Given the description of an element on the screen output the (x, y) to click on. 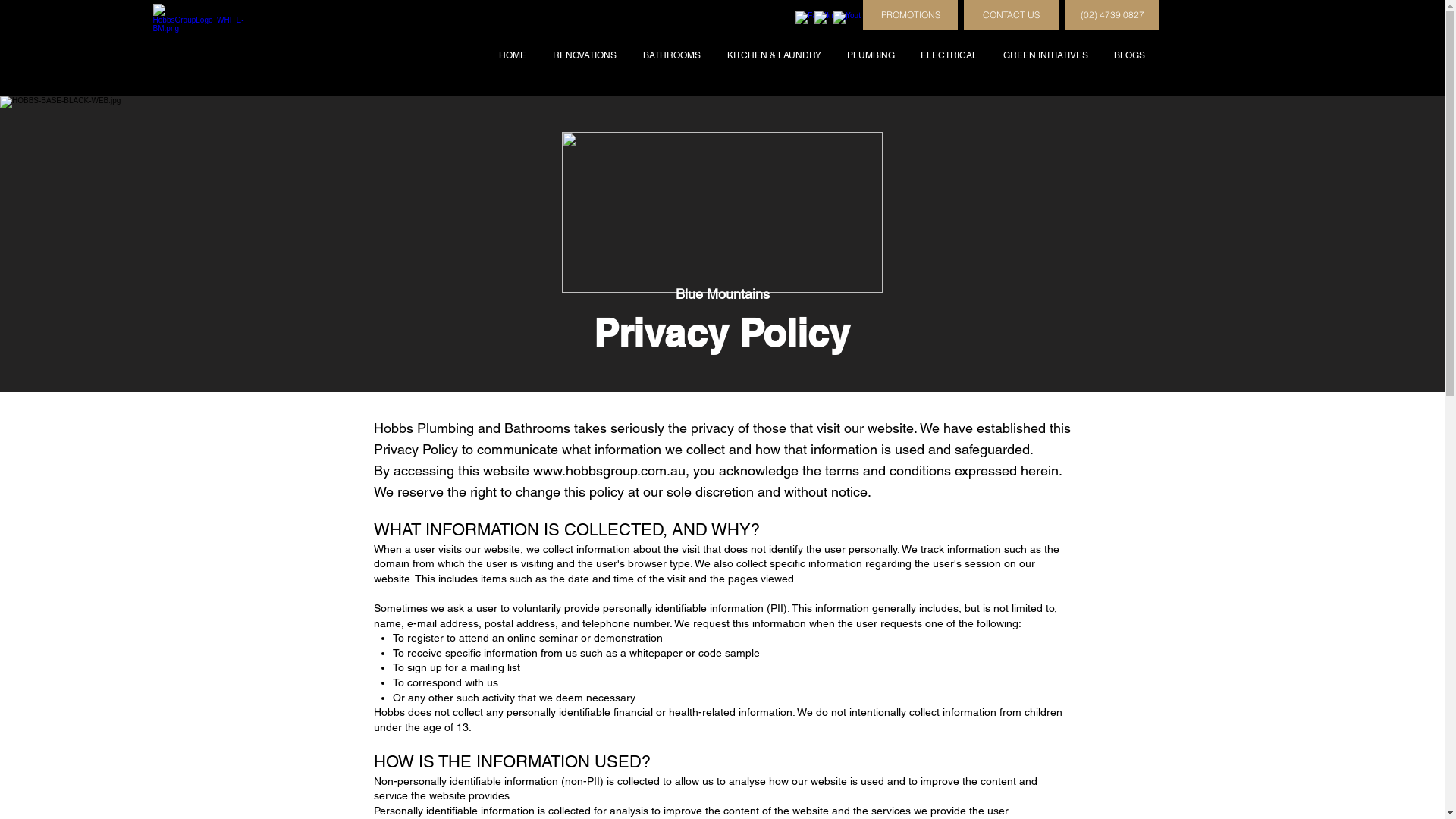
PLUMBING Element type: text (870, 55)
PROMOTIONS Element type: text (909, 15)
RENOVATIONS Element type: text (584, 55)
HOME Element type: text (512, 55)
GREEN INITIATIVES Element type: text (1045, 55)
ELECTRICAL Element type: text (948, 55)
KITCHEN & LAUNDRY Element type: text (773, 55)
www.hobbsgroup.com.au Element type: text (608, 470)
BATHROOMS Element type: text (671, 55)
CONTACT US Element type: text (1010, 15)
(02) 4739 0827 Element type: text (1111, 15)
